Given the description of an element on the screen output the (x, y) to click on. 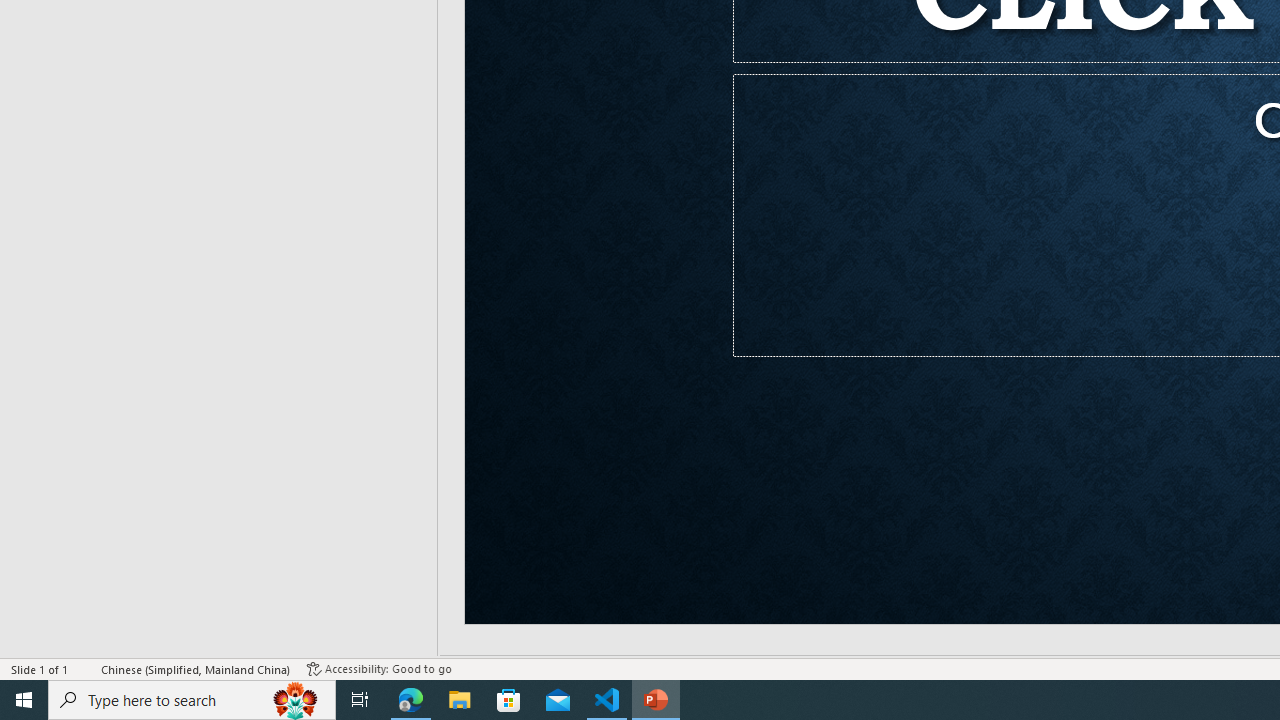
Accessibility Checker Accessibility: Good to go (379, 668)
Spell Check  (86, 668)
